Given the description of an element on the screen output the (x, y) to click on. 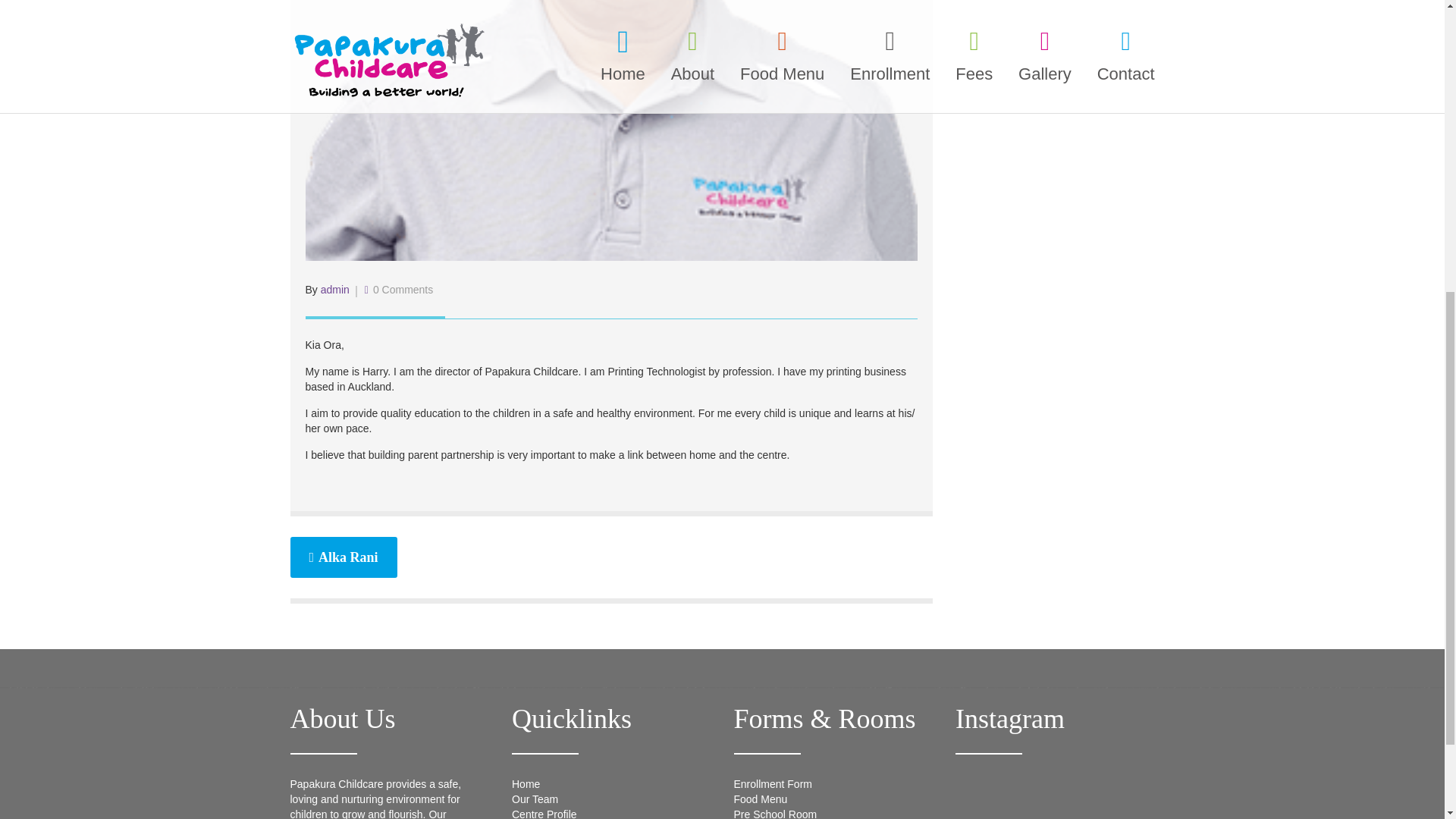
0 Comments (402, 289)
admin (334, 289)
Food Menu (760, 799)
Alka Rani (342, 557)
Our Team (534, 799)
Posts by admin (334, 289)
Enrollment Form (772, 784)
Home (526, 784)
